Given the description of an element on the screen output the (x, y) to click on. 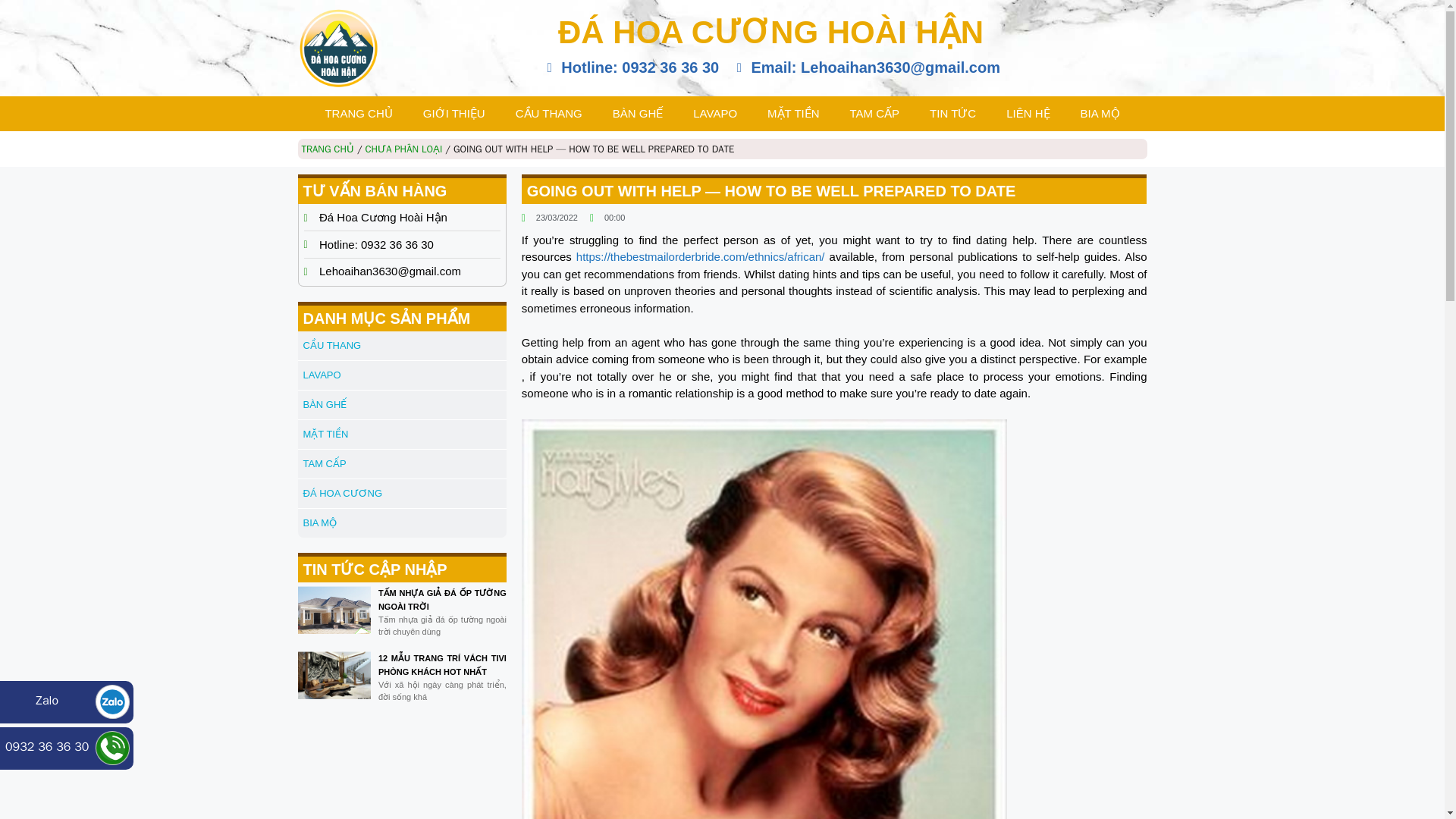
Hotline: 0932 36 36 30 (630, 67)
LAVAPO (715, 113)
